Given the description of an element on the screen output the (x, y) to click on. 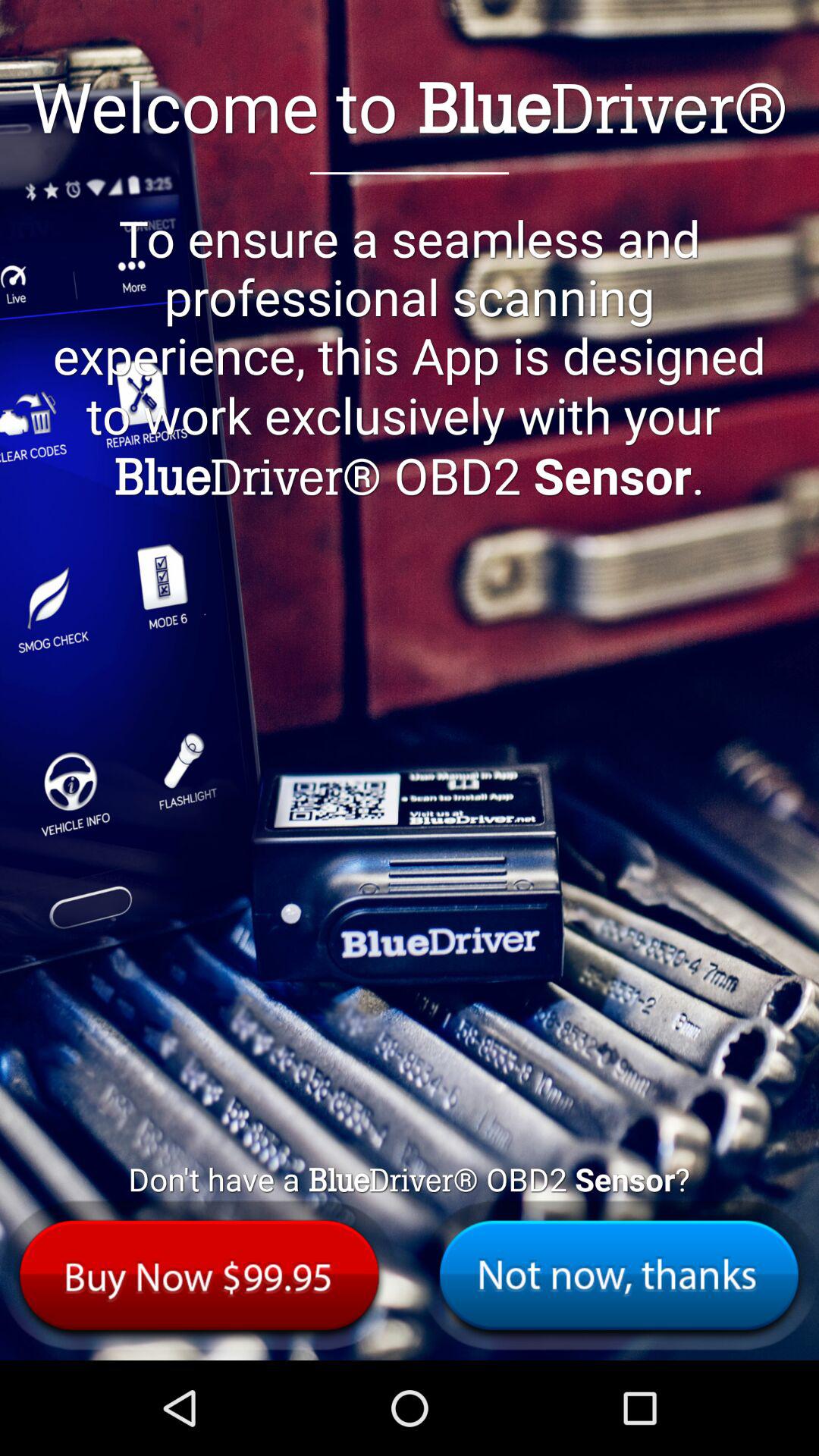
buy indicated product (199, 1275)
